Given the description of an element on the screen output the (x, y) to click on. 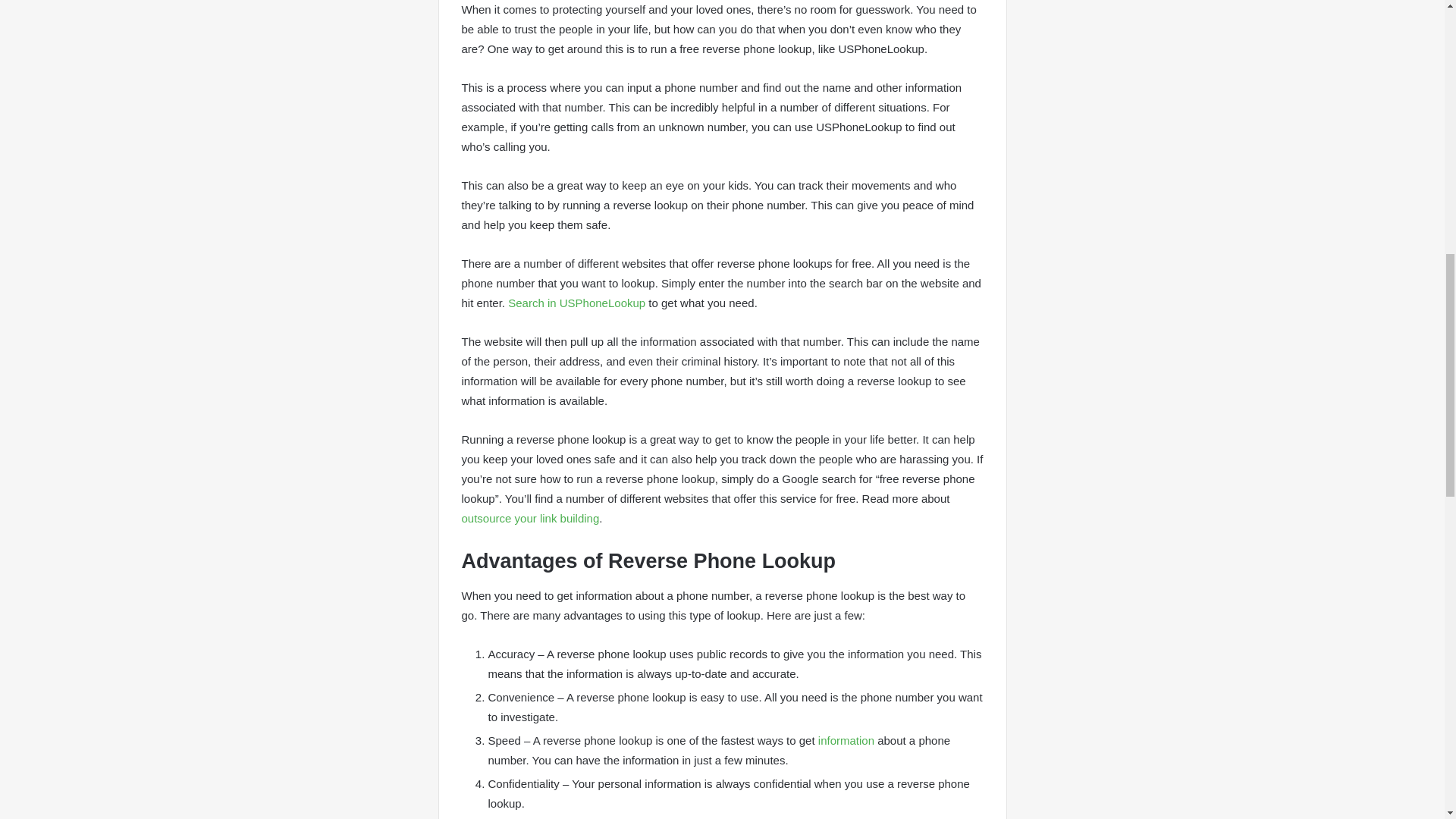
Search in USPhoneLookup (576, 302)
outsource your link building (529, 517)
information (846, 739)
